Given the description of an element on the screen output the (x, y) to click on. 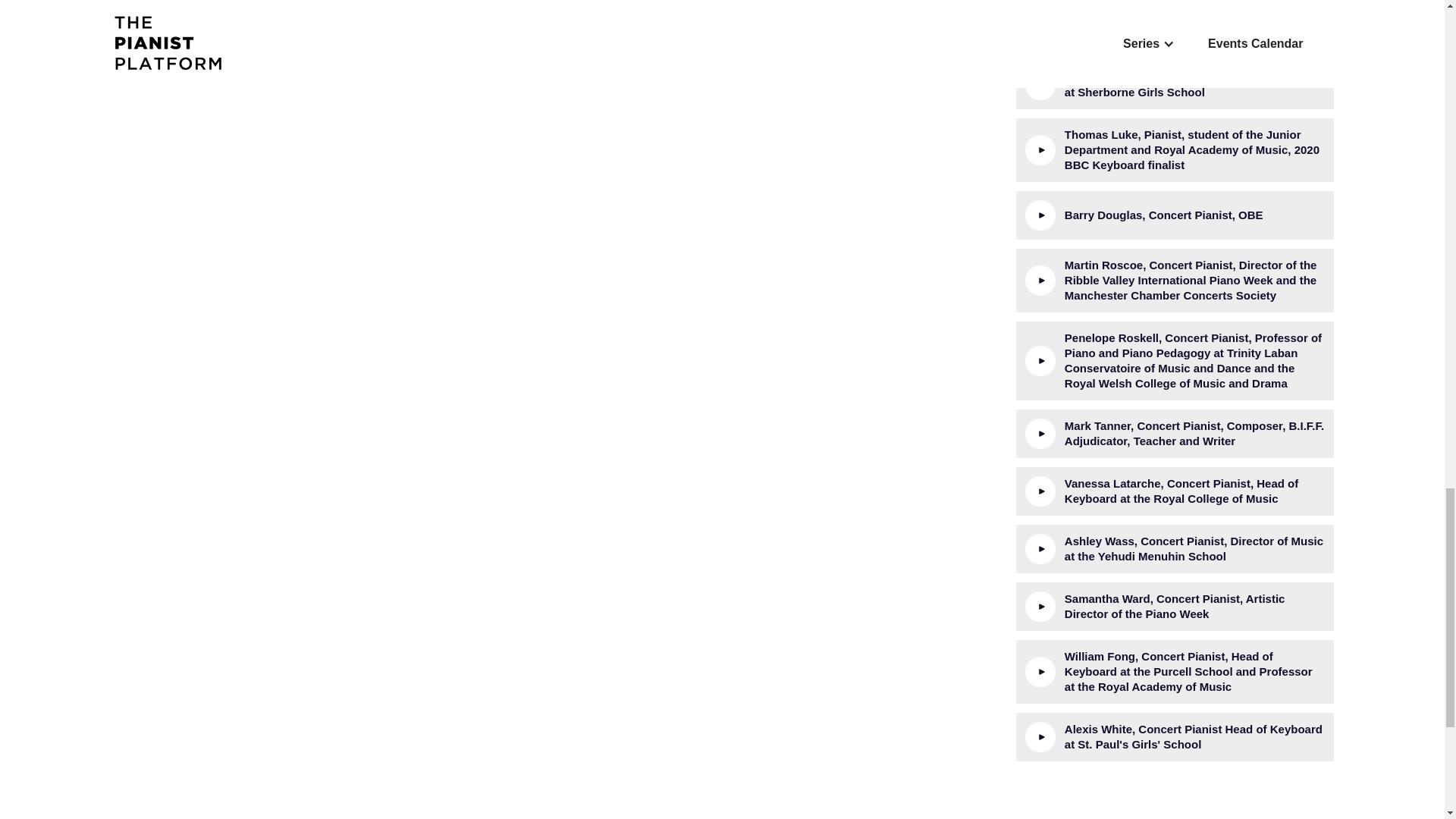
Barry Douglas, Concert Pianist, OBE (1174, 214)
Nick Bottini, Performance Mindset Coach (1174, 27)
